Given the description of an element on the screen output the (x, y) to click on. 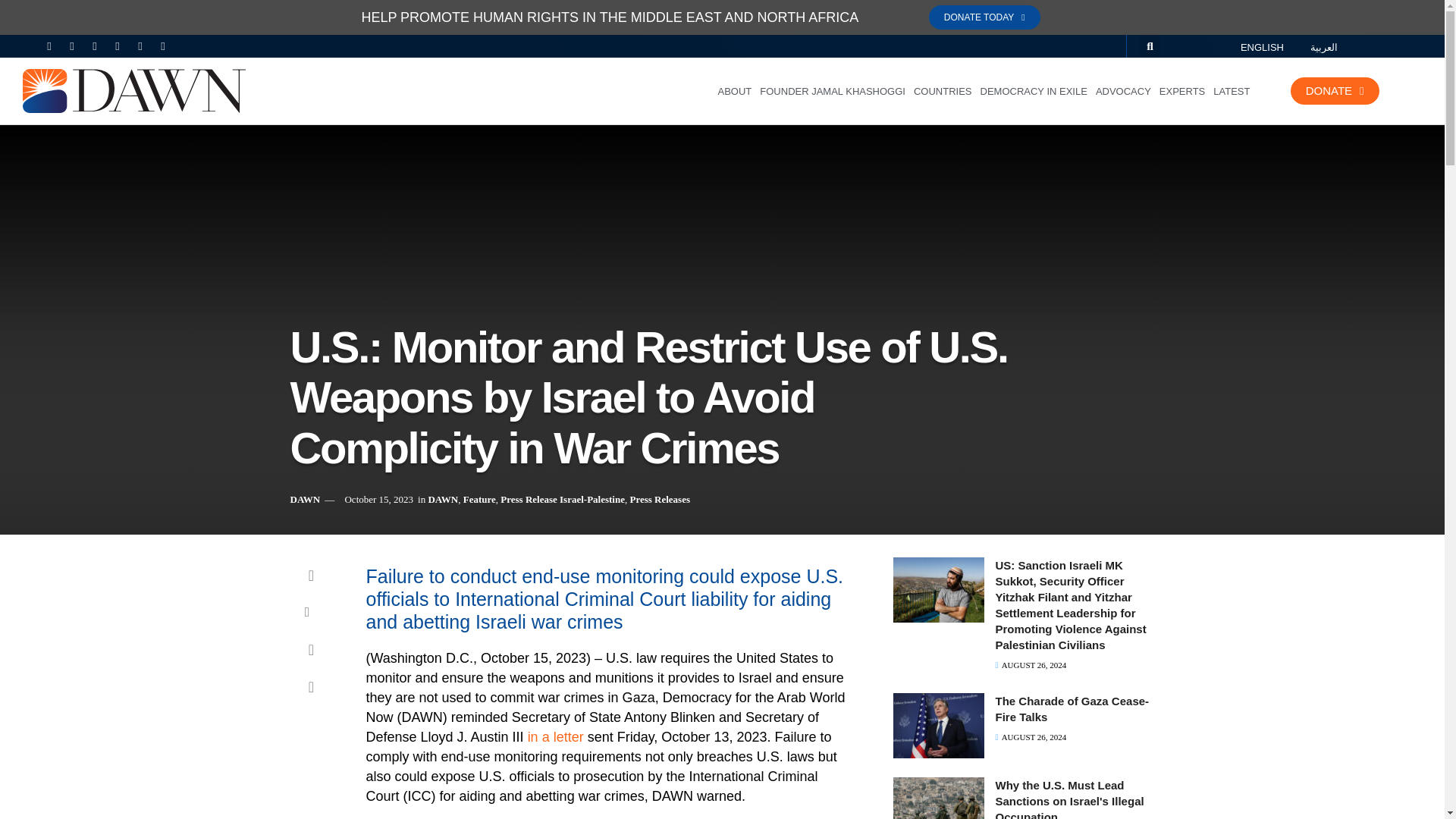
ABOUT (735, 91)
ADVOCACY (1123, 91)
COUNTRIES (942, 91)
ENGLISH (1257, 46)
FOUNDER JAMAL KHASHOGGI (832, 91)
DEMOCRACY IN EXILE (1033, 91)
DONATE TODAY (984, 16)
